Given the description of an element on the screen output the (x, y) to click on. 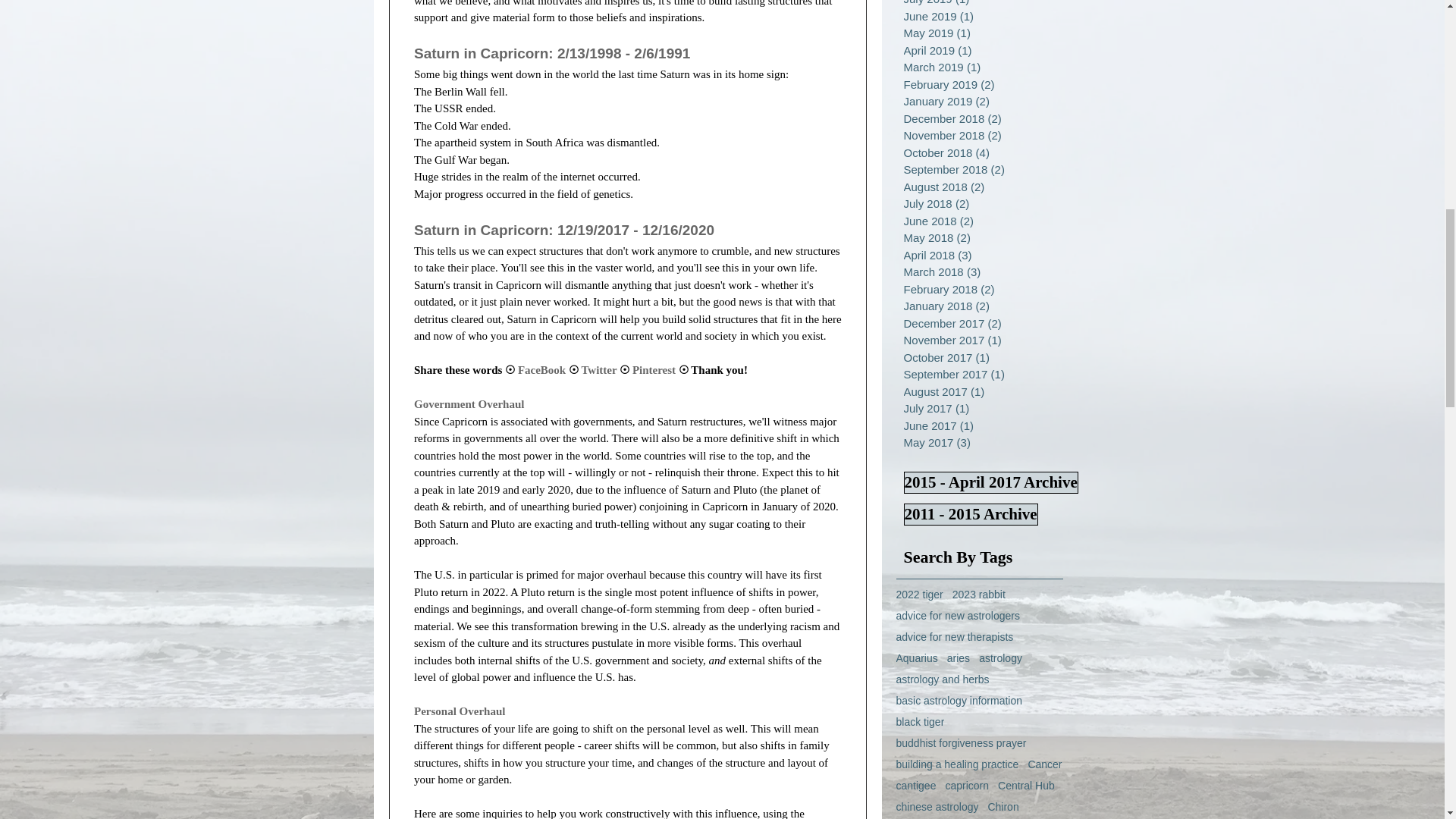
FaceBook (540, 369)
Twitter (597, 369)
Pinterest (653, 369)
